Given the description of an element on the screen output the (x, y) to click on. 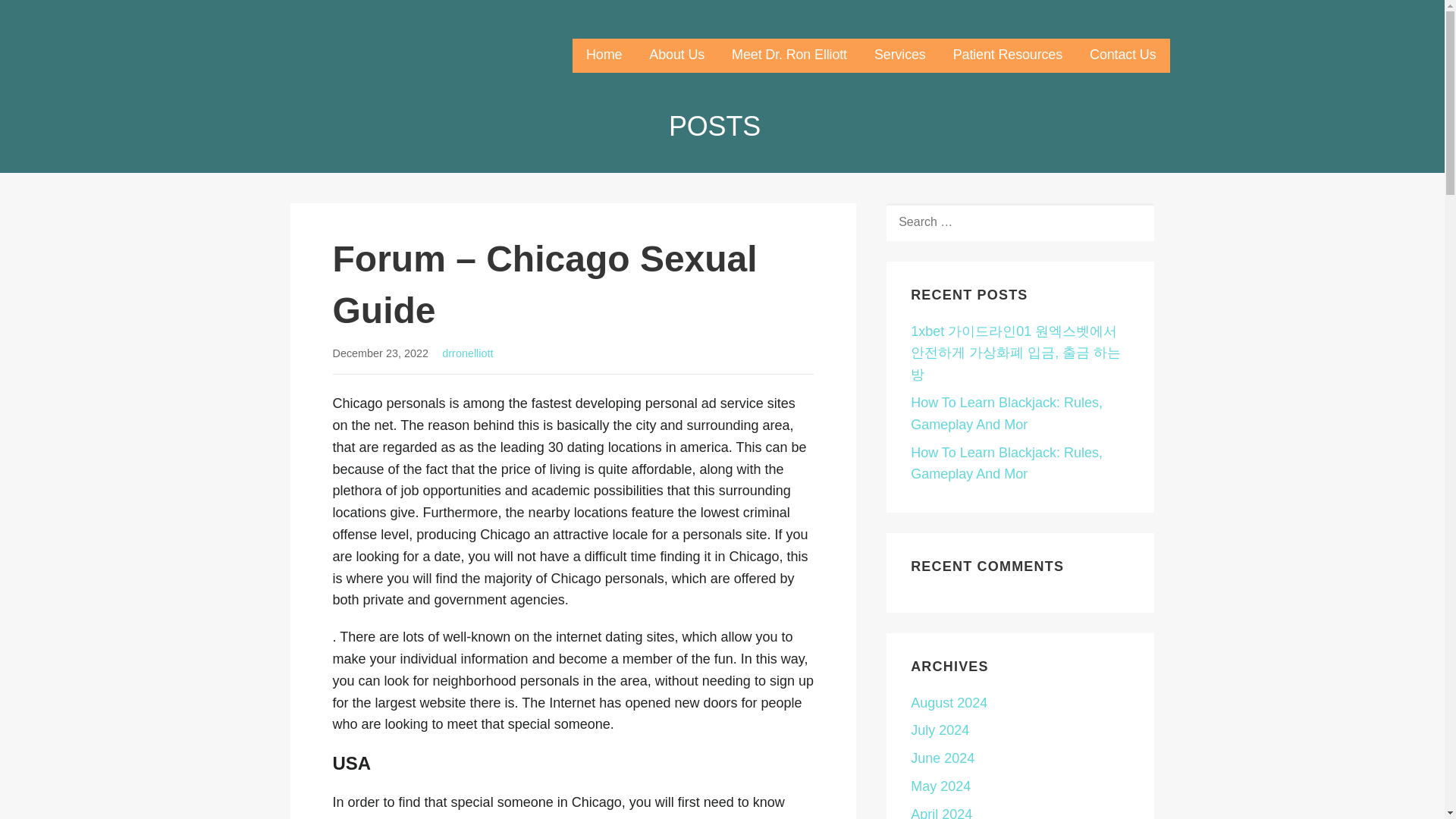
Meet Dr. Ron Elliott (789, 55)
May 2024 (941, 785)
Posts by drronelliott (467, 353)
Home (603, 55)
August 2024 (949, 702)
Contact Us (1122, 55)
drronelliott (467, 353)
Search (47, 17)
July 2024 (940, 729)
April 2024 (941, 812)
